Given the description of an element on the screen output the (x, y) to click on. 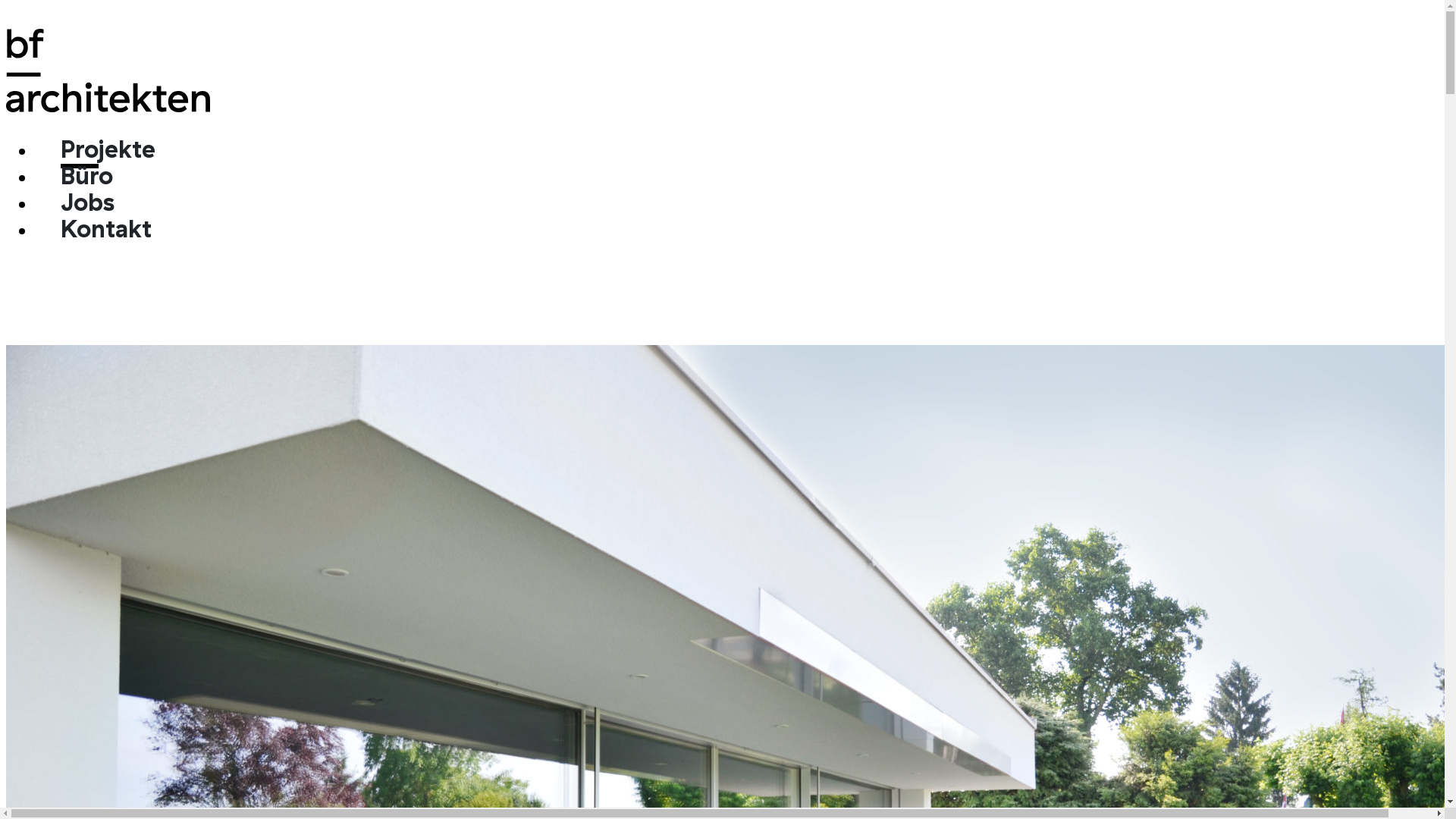
Projekte Element type: text (107, 148)
Jobs Element type: text (87, 201)
Kontakt Element type: text (105, 228)
